Given the description of an element on the screen output the (x, y) to click on. 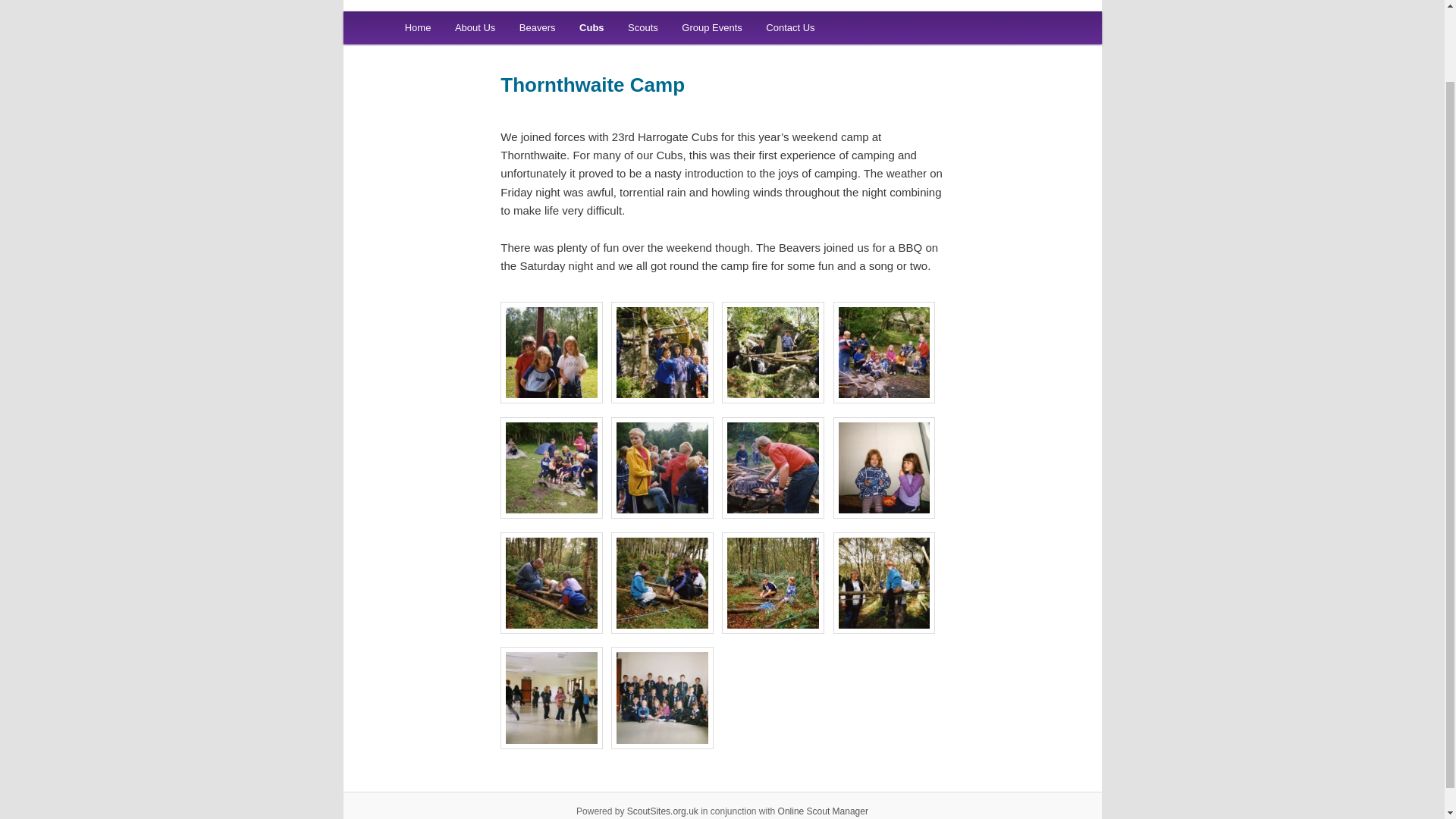
Home (417, 27)
Cubs (591, 27)
About Us (474, 27)
Beavers (536, 27)
